Given the description of an element on the screen output the (x, y) to click on. 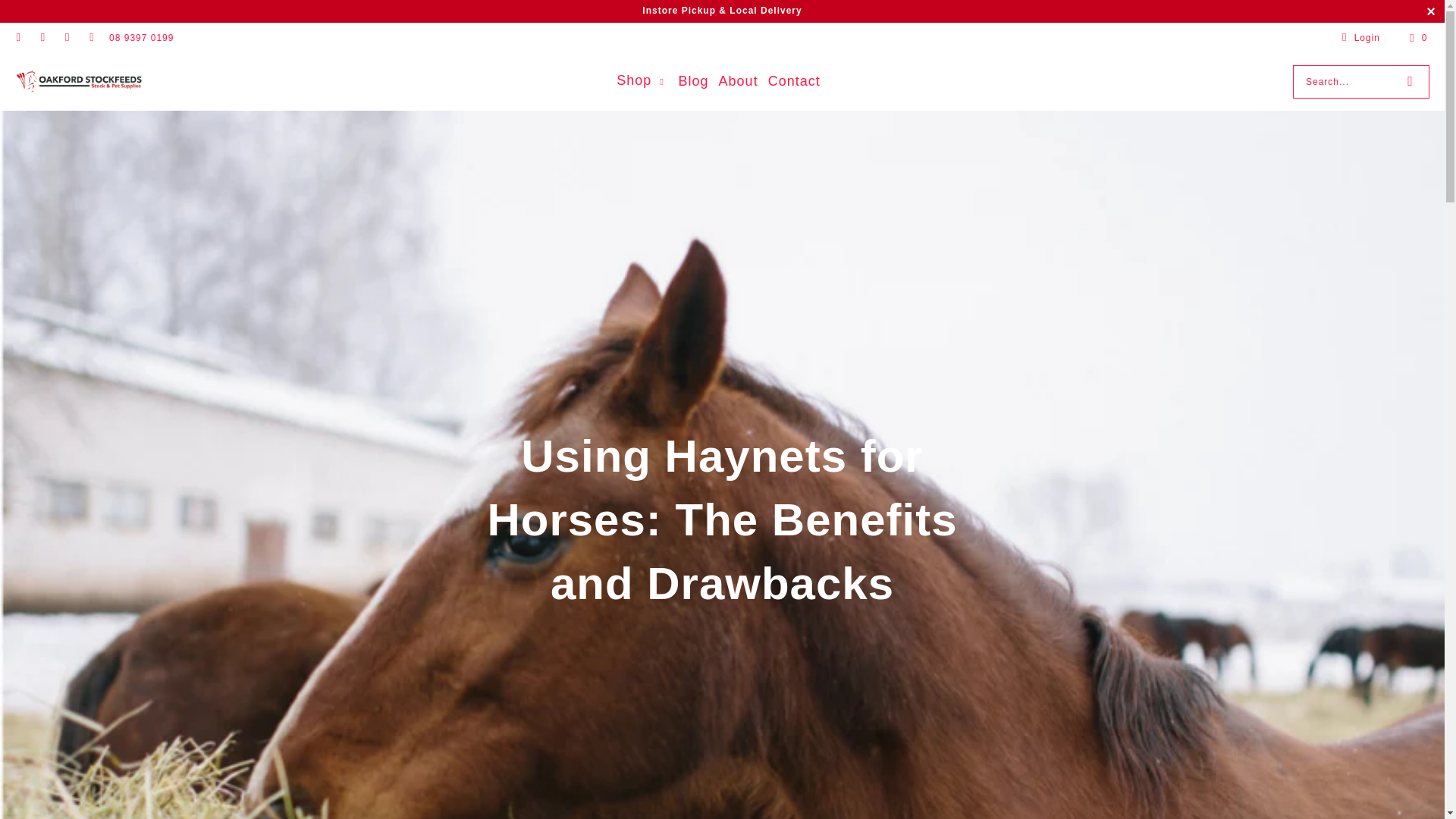
Oakford Stockfeeds (79, 81)
Oakford Stockfeeds on Instagram (67, 37)
My Account  (1358, 38)
Login (1358, 38)
Oakford Stockfeeds on Facebook (41, 37)
Email Oakford Stockfeeds (17, 37)
Oakford Stockfeeds on Pinterest (90, 37)
08 9397 0199 (141, 38)
